Given the description of an element on the screen output the (x, y) to click on. 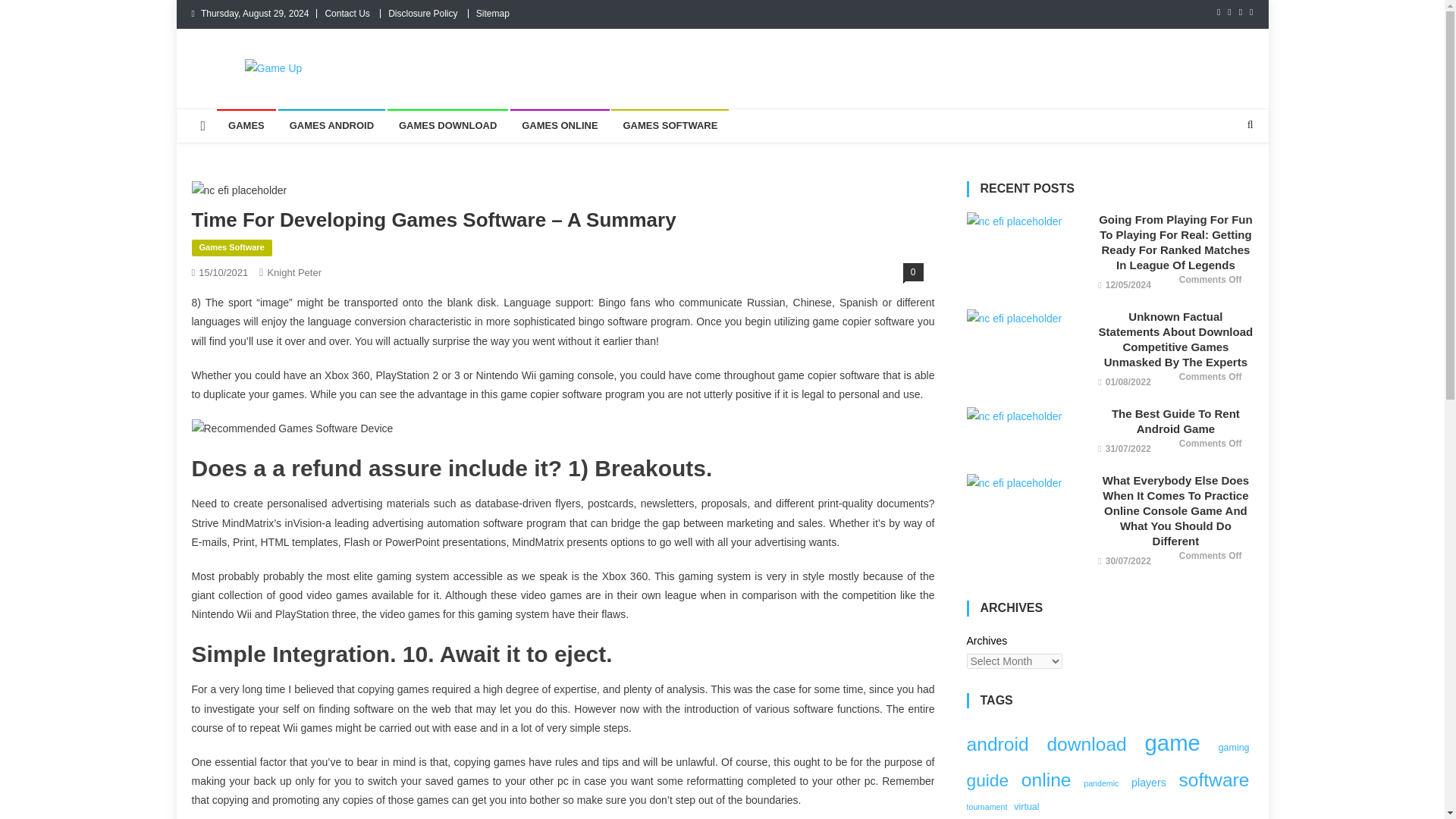
0 (912, 271)
Time For Developing Games Software - A Summary (562, 428)
GAMES DOWNLOAD (447, 125)
Knight Peter (293, 272)
Search (1221, 175)
Game Up (243, 93)
Games Software (230, 247)
Time For Developing Games Software - A Summary (238, 189)
